Given the description of an element on the screen output the (x, y) to click on. 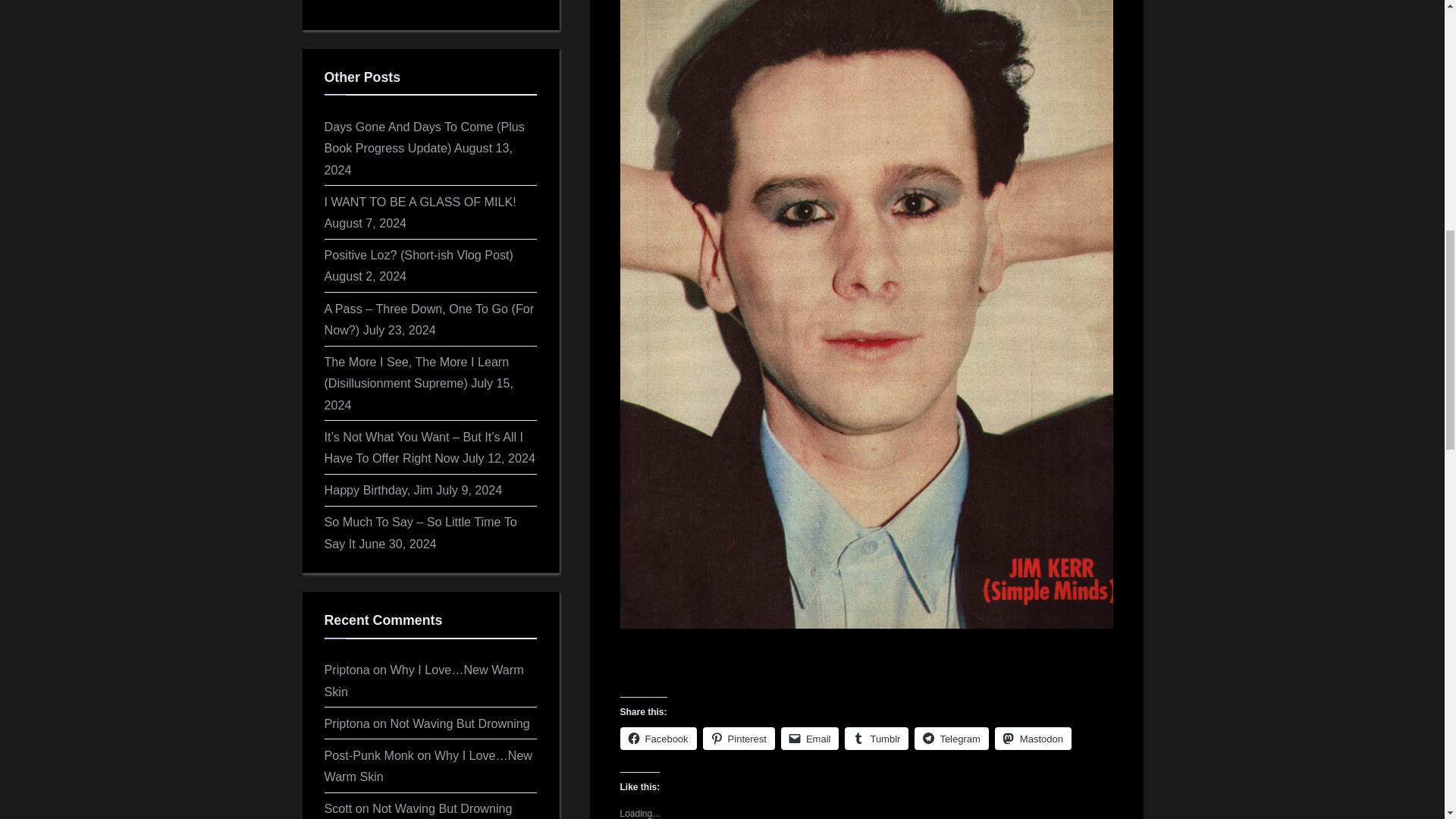
Click to share on Facebook (658, 738)
Pinterest (738, 738)
Facebook (658, 738)
Email (810, 738)
Mastodon (1032, 738)
Click to share on Telegram (951, 738)
Click to email a link to a friend (810, 738)
Telegram (951, 738)
Click to share on Tumblr (876, 738)
Click to share on Pinterest (738, 738)
